Given the description of an element on the screen output the (x, y) to click on. 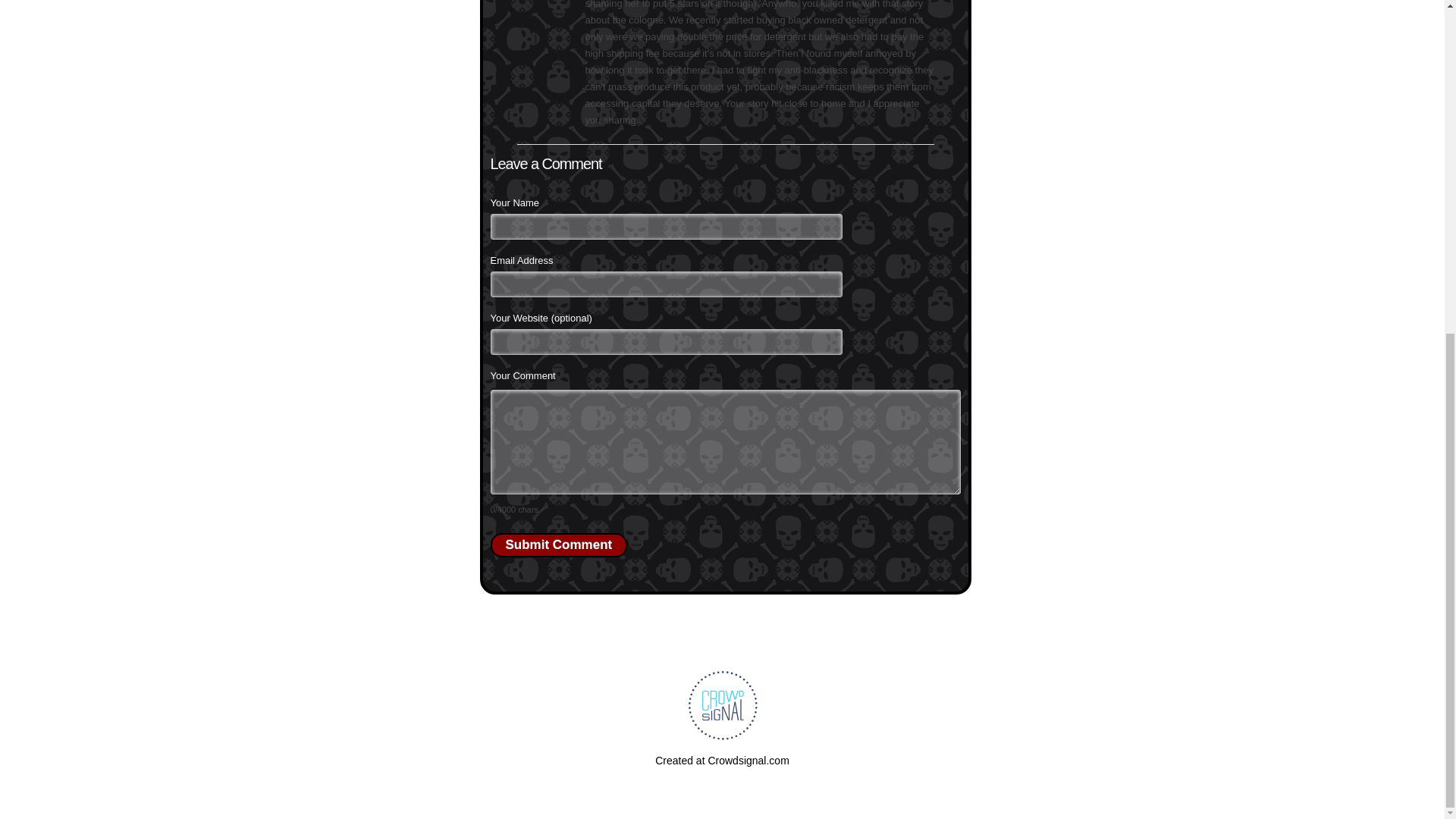
Create free online surveys today with Crowdsignal! (722, 760)
Created at Crowdsignal.com (722, 760)
Submit Comment (558, 545)
